Given the description of an element on the screen output the (x, y) to click on. 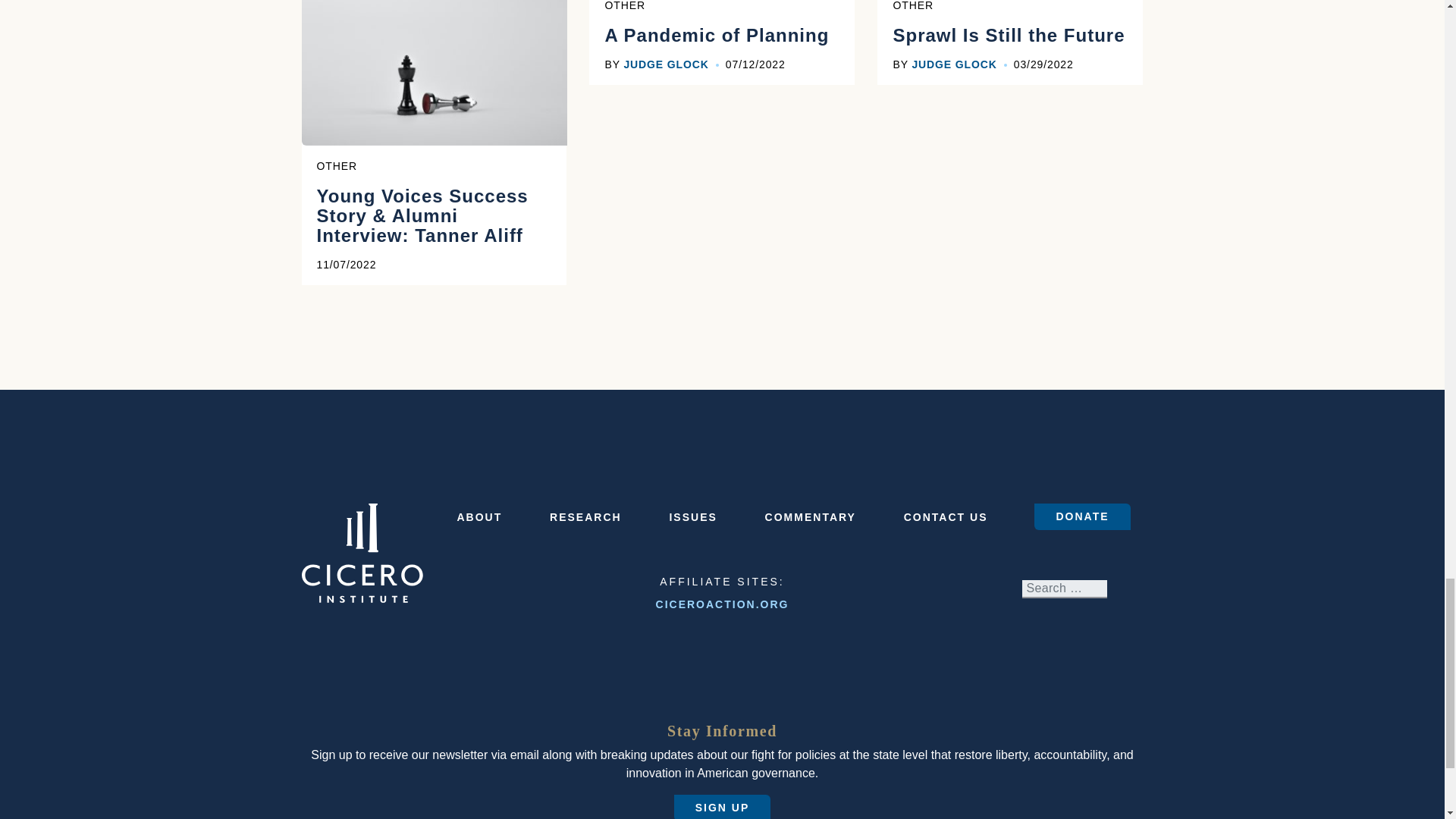
OTHER (624, 5)
A Pandemic of Planning (716, 48)
ISSUES (692, 517)
COMMENTARY (810, 517)
OTHER (336, 165)
DONATE (1081, 516)
JUDGE GLOCK (953, 64)
Sprawl Is Still the Future (1008, 48)
ABOUT (479, 517)
JUDGE GLOCK (665, 64)
CICEROACTION.ORG (722, 604)
OTHER (912, 5)
CONTACT US (946, 517)
RESEARCH (585, 517)
